Given the description of an element on the screen output the (x, y) to click on. 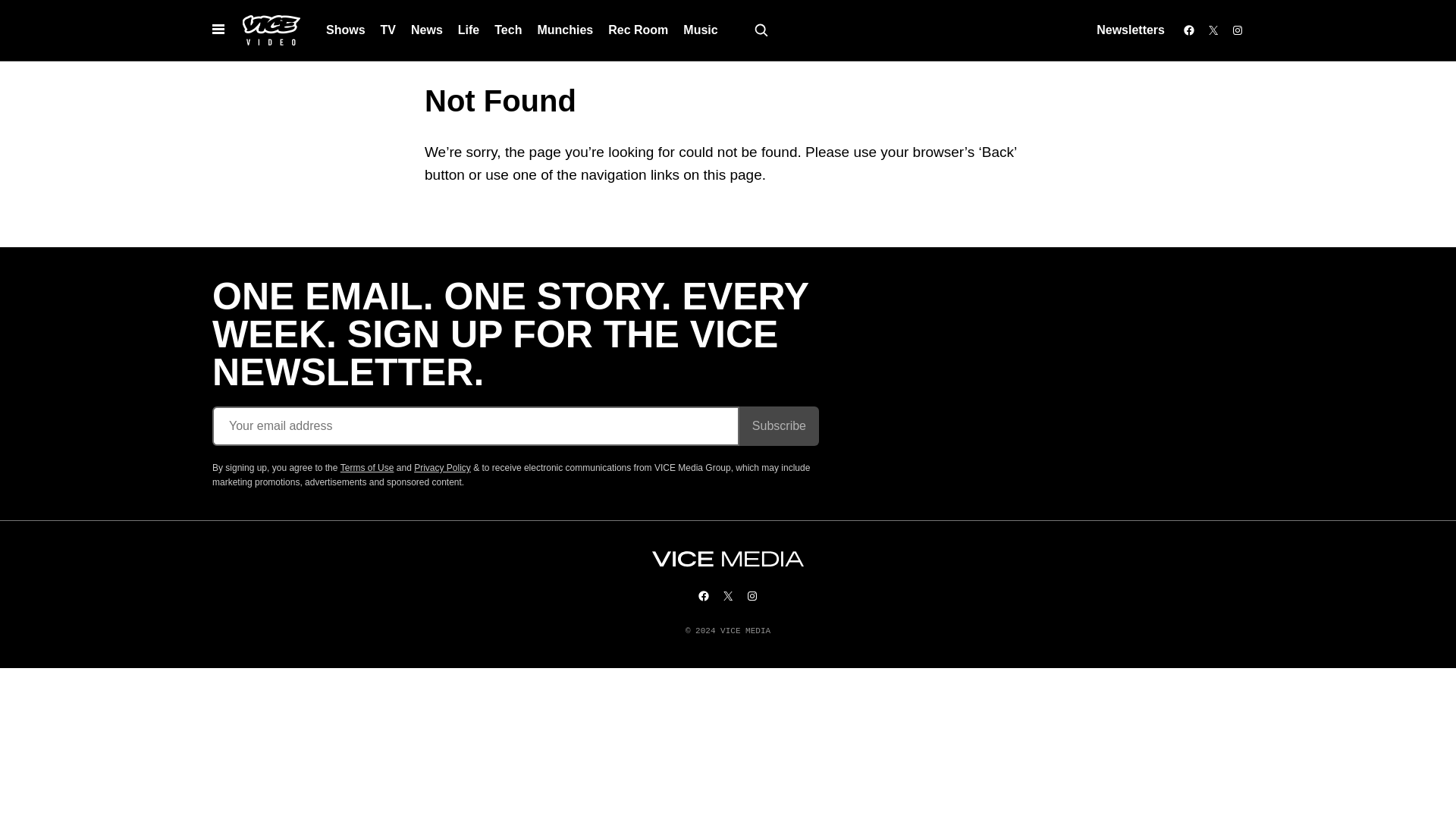
Music (700, 29)
Tech (507, 29)
VICE MEDIA (727, 559)
News (426, 29)
FACEBOOK (703, 595)
Terms of Use (367, 467)
Munchies (564, 29)
Rec Room (637, 29)
Privacy Policy (441, 467)
Life (467, 29)
